Given the description of an element on the screen output the (x, y) to click on. 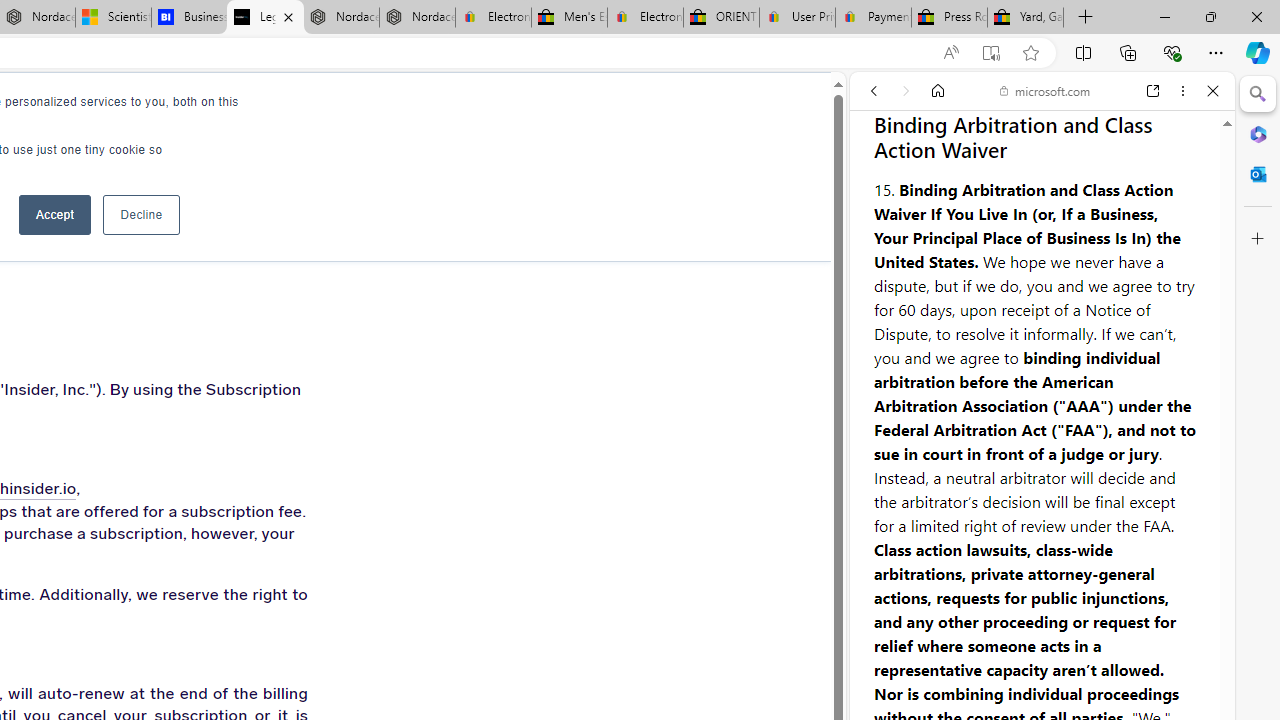
Decline (141, 214)
Search the web (1051, 137)
Press Room - eBay Inc. (948, 17)
microsoft.com (1045, 90)
